Given the description of an element on the screen output the (x, y) to click on. 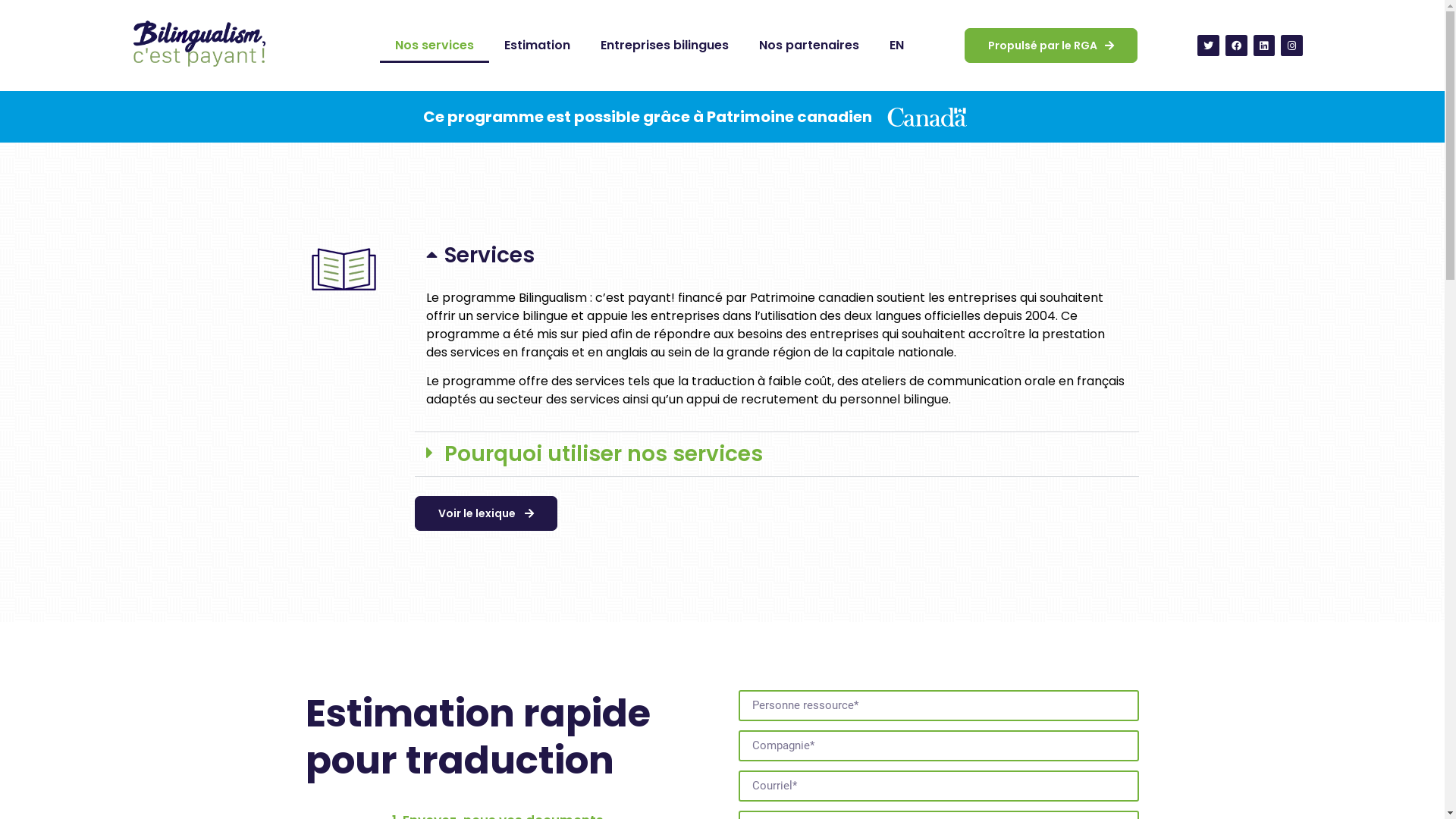
Entreprises bilingues Element type: text (664, 45)
Estimation Element type: text (537, 45)
Pourquoi utiliser nos services Element type: text (603, 453)
Nos partenaires Element type: text (808, 45)
EN Element type: text (896, 45)
Services Element type: text (489, 254)
Voir le lexique Element type: text (485, 512)
Nos services Element type: text (434, 45)
